Given the description of an element on the screen output the (x, y) to click on. 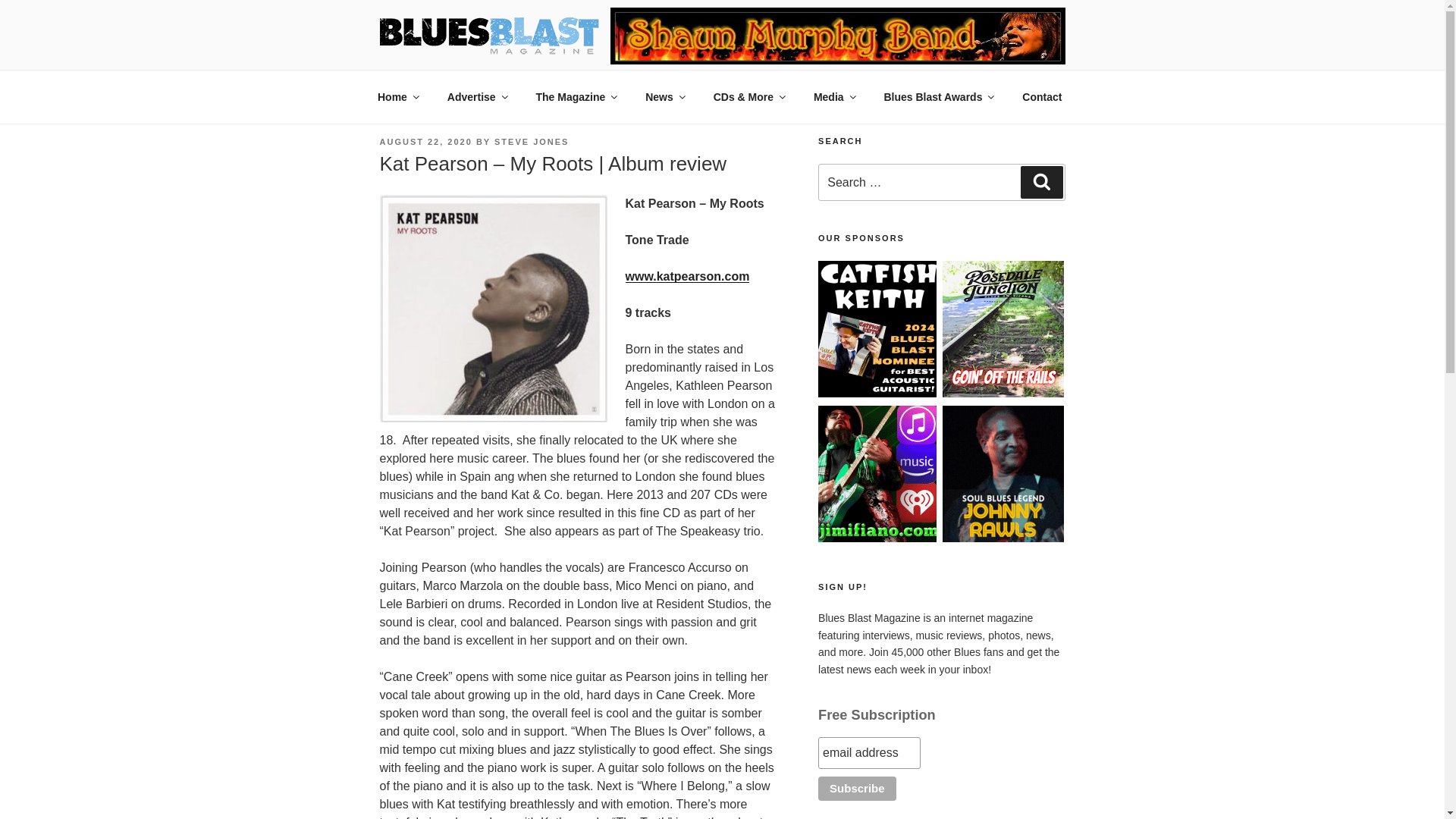
Home (397, 97)
News (664, 97)
BLUES BLAST MAGAZINE (572, 24)
The Magazine (575, 97)
Media (833, 97)
Subscribe (857, 788)
Advertise (476, 97)
